Given the description of an element on the screen output the (x, y) to click on. 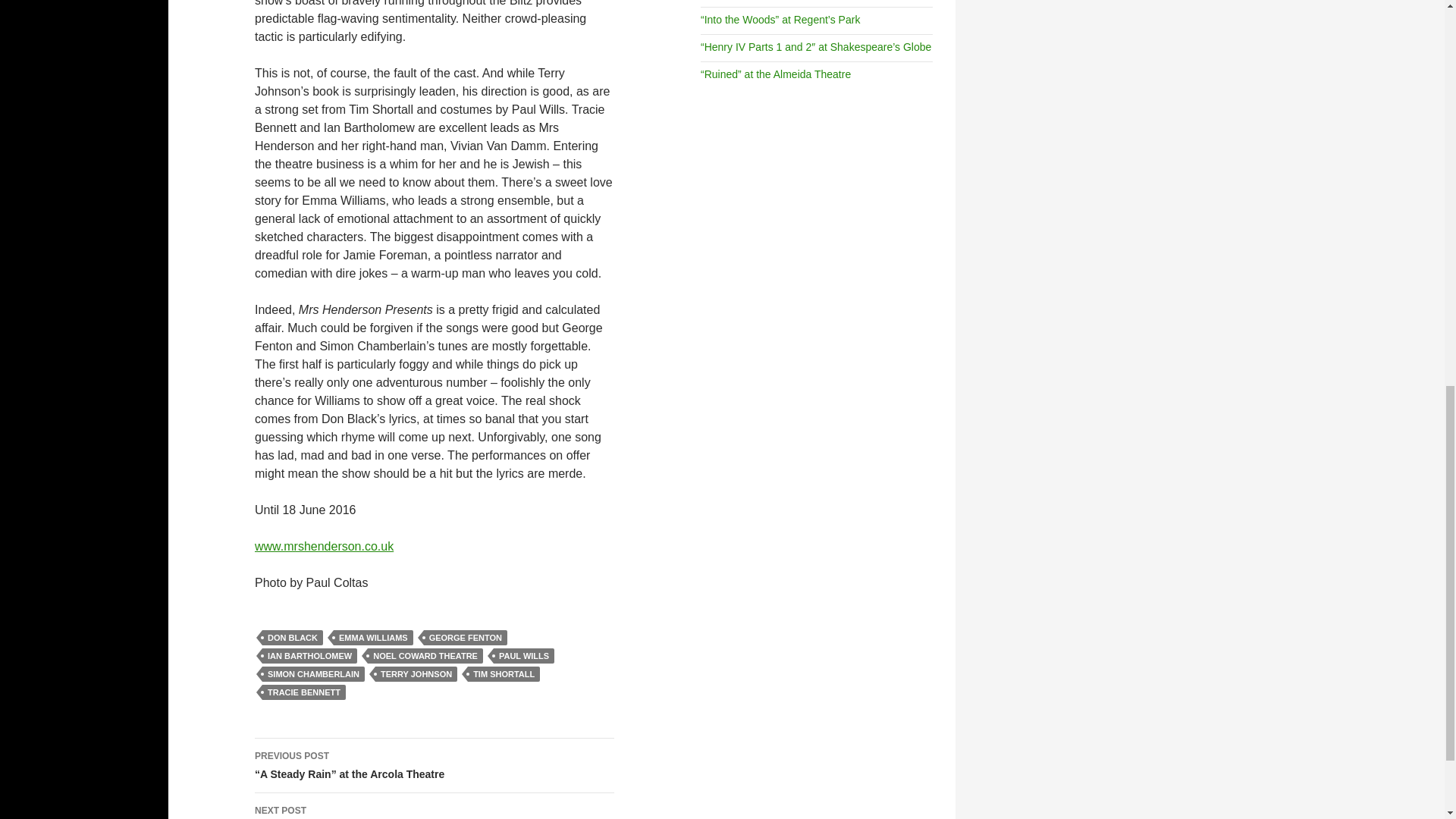
GEORGE FENTON (464, 637)
TIM SHORTALL (503, 673)
NOEL COWARD THEATRE (425, 655)
PAUL WILLS (523, 655)
IAN BARTHOLOMEW (309, 655)
EMMA WILLIAMS (373, 637)
SIMON CHAMBERLAIN (313, 673)
TERRY JOHNSON (416, 673)
DON BLACK (292, 637)
TRACIE BENNETT (304, 692)
